Given the description of an element on the screen output the (x, y) to click on. 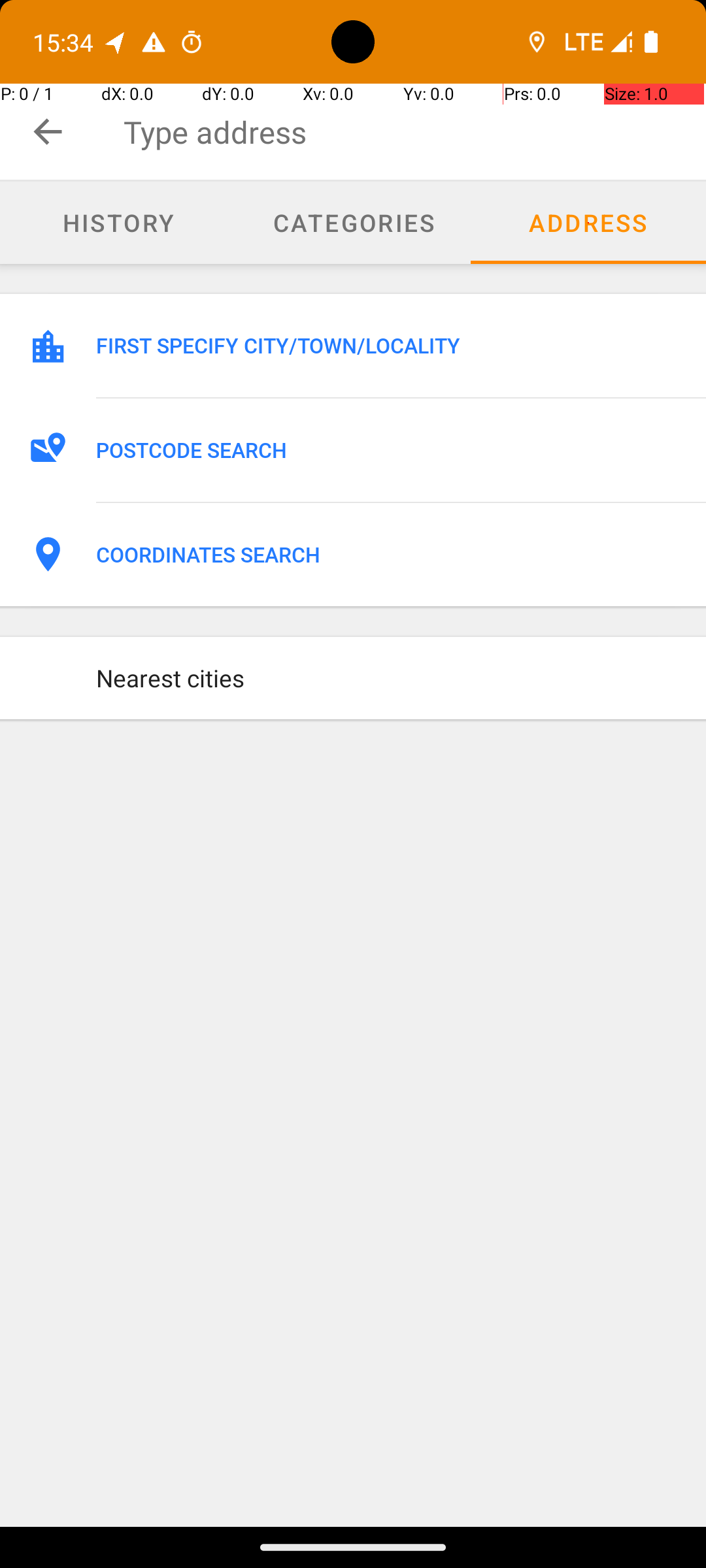
Type address Element type: android.widget.EditText (414, 131)
History Element type: android.widget.LinearLayout (117, 222)
Categories Element type: android.widget.LinearLayout (352, 222)
Address Element type: android.widget.LinearLayout (588, 222)
HISTORY Element type: android.widget.TextView (117, 222)
CATEGORIES Element type: android.widget.TextView (352, 222)
ADDRESS Element type: android.widget.TextView (587, 222)
FIRST SPECIFY CITY/TOWN/LOCALITY Element type: android.widget.TextView (387, 345)
POSTCODE SEARCH Element type: android.widget.TextView (387, 450)
COORDINATES SEARCH Element type: android.widget.TextView (387, 554)
Nearest cities Element type: android.widget.TextView (387, 678)
OpenTracks notification: Distance: 8.20 mi Element type: android.widget.ImageView (115, 41)
